Given the description of an element on the screen output the (x, y) to click on. 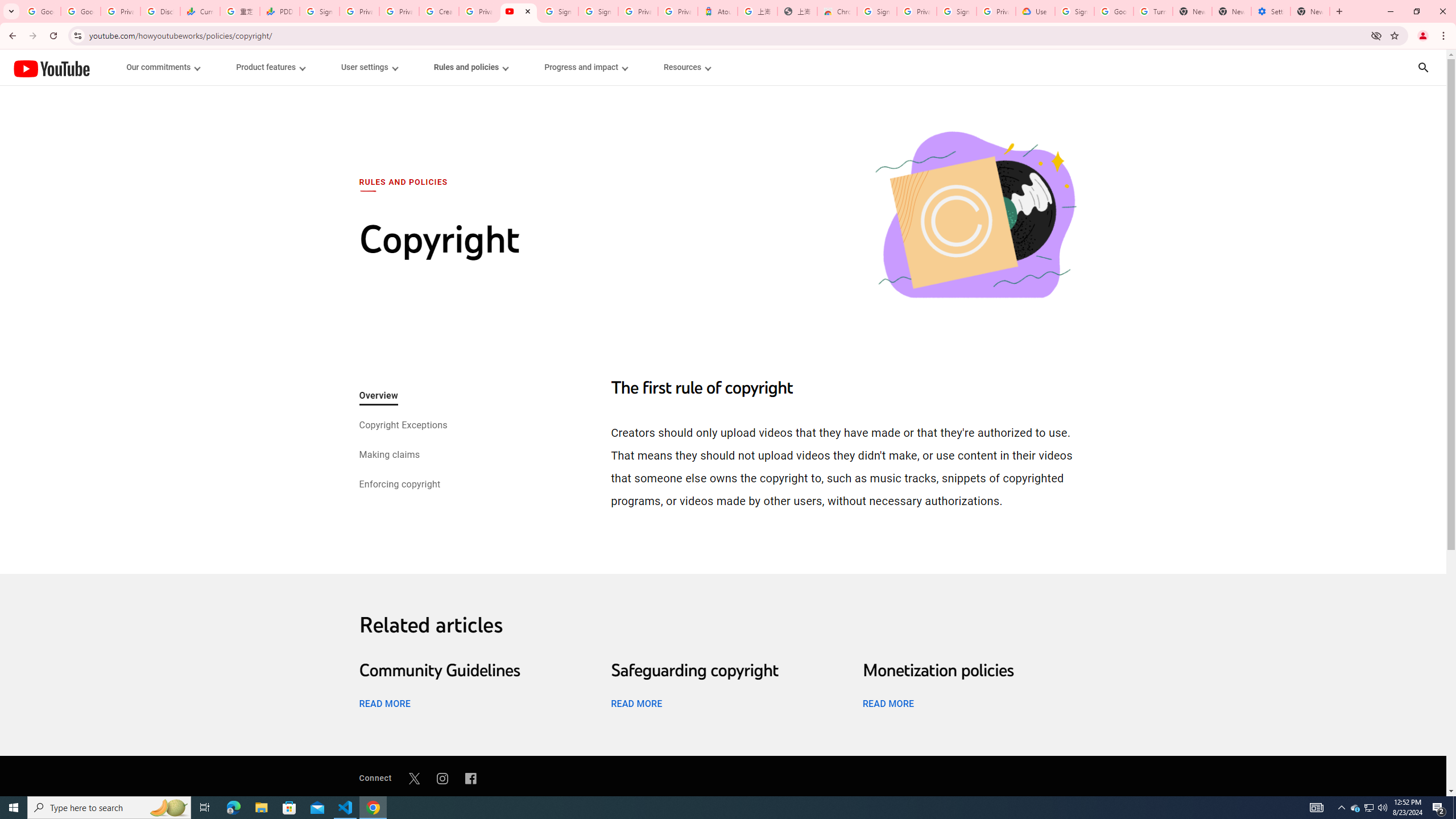
Facebook (470, 778)
Enforcing copyright (399, 484)
Chrome Web Store - Color themes by Chrome (836, 11)
Resources menupopup (686, 67)
Our commitments menupopup (163, 67)
READ MORE (887, 703)
Sign in - Google Accounts (319, 11)
Play (723, 469)
